Given the description of an element on the screen output the (x, y) to click on. 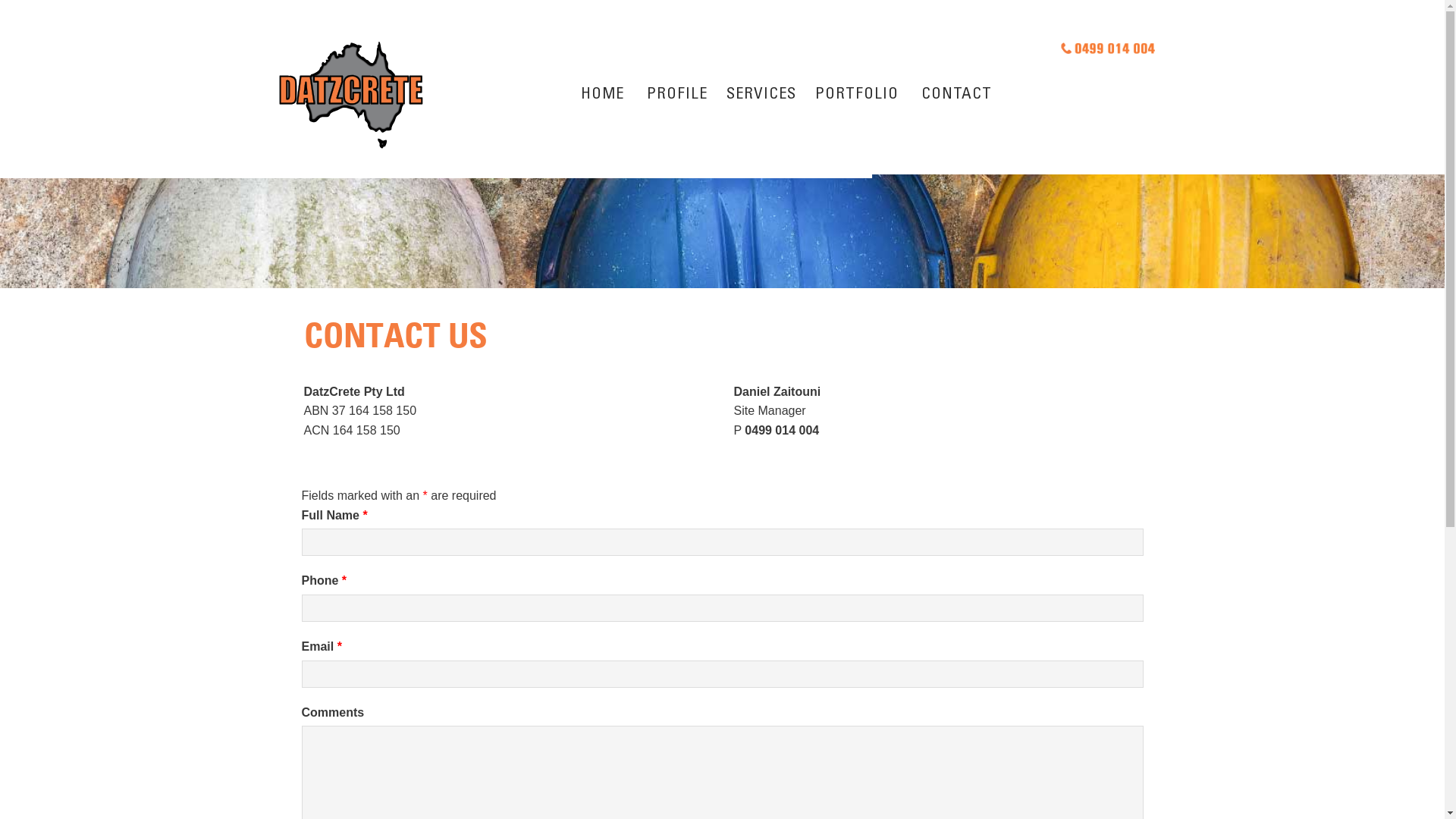
SERVICES Element type: text (758, 96)
CONTACT Element type: text (956, 96)
HOME Element type: text (601, 96)
PROFILE Element type: text (675, 96)
PORTFOLIO Element type: text (856, 96)
